Given the description of an element on the screen output the (x, y) to click on. 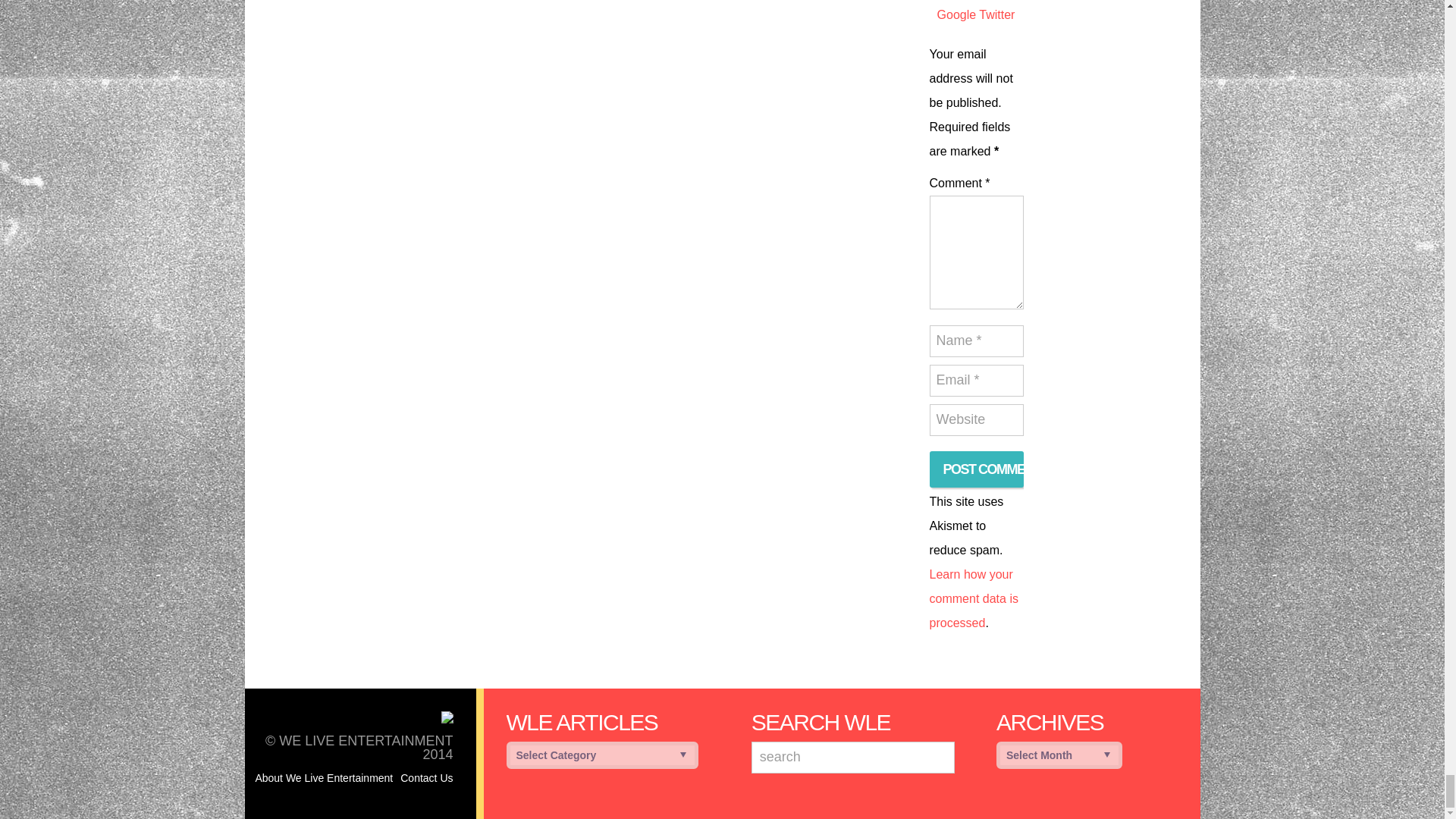
Post Comment (977, 469)
